Given the description of an element on the screen output the (x, y) to click on. 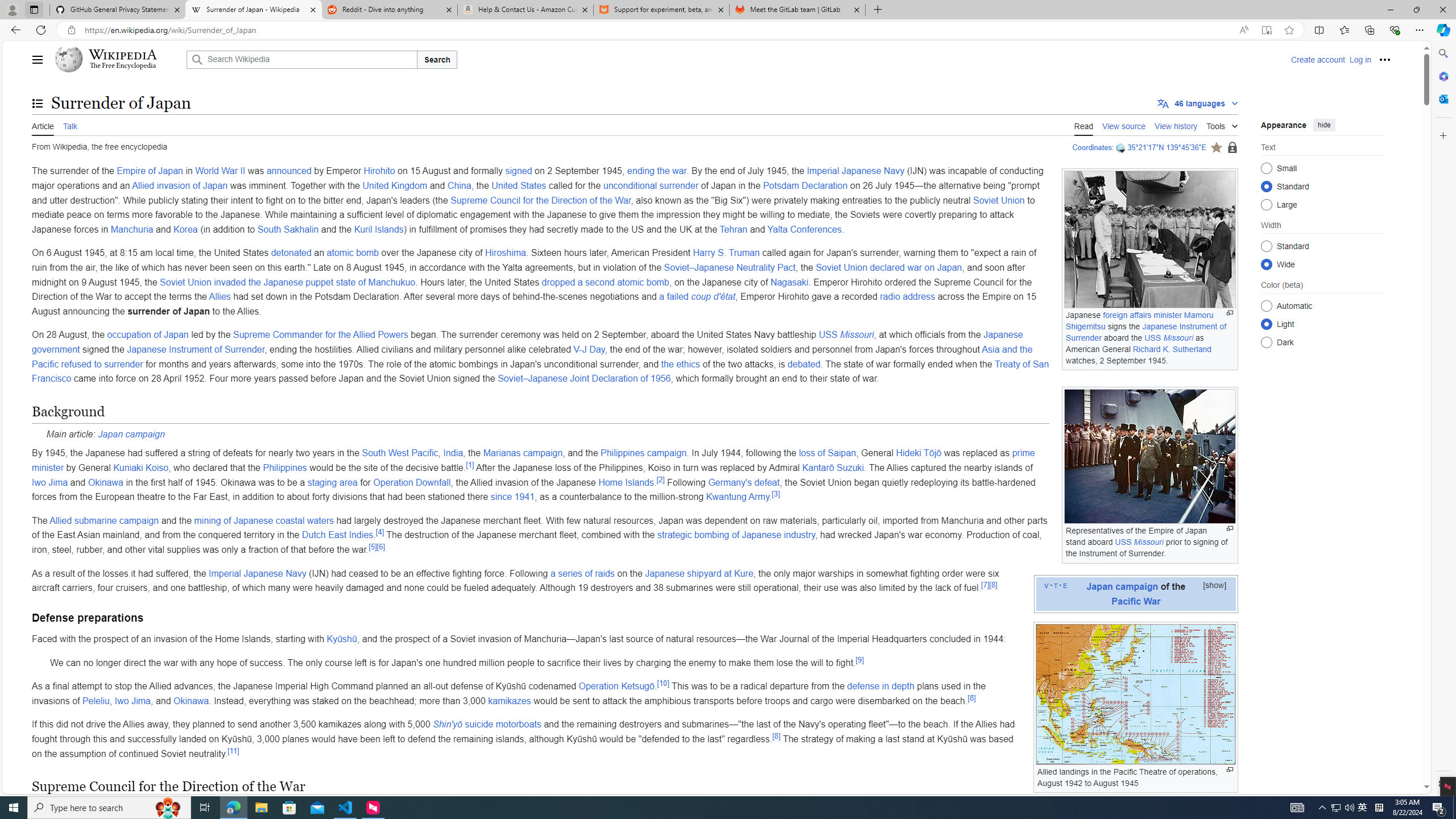
[11] (232, 750)
[5] (372, 546)
Hiroshima (504, 252)
World War II (220, 171)
Featured article (1216, 147)
Class: mw-file-element (1135, 693)
Personal tools (1384, 59)
Richard K. Sutherland (1171, 348)
v (1045, 584)
Create account (1317, 58)
Iwo Jima (133, 700)
mining of Japanese coastal waters (263, 520)
[1] (469, 464)
